Given the description of an element on the screen output the (x, y) to click on. 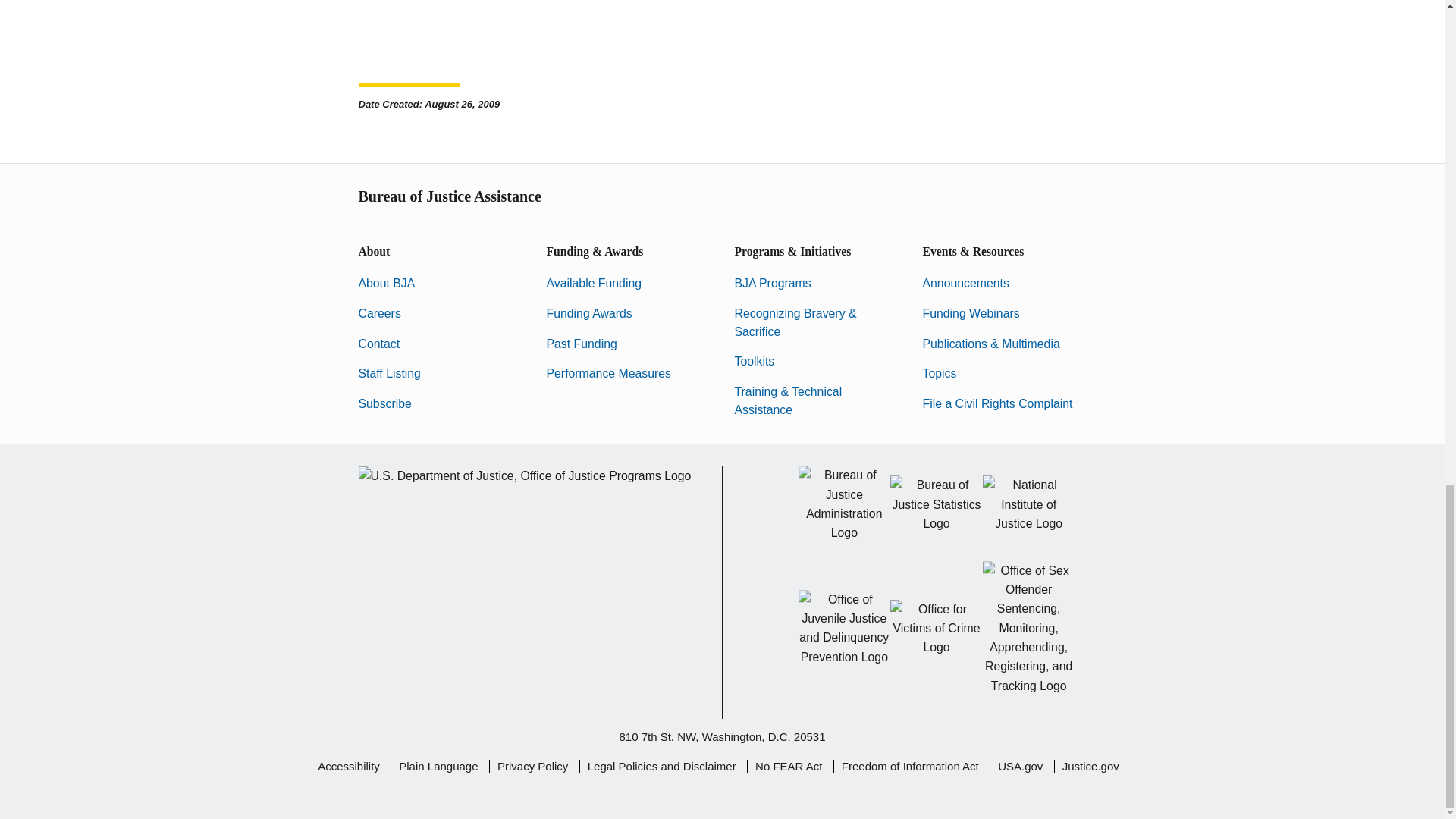
Subscribe (384, 403)
About BJA (386, 282)
Available Funding (594, 282)
Staff Listing (389, 373)
Contact (378, 343)
Funding Awards (588, 313)
Careers (379, 313)
